Given the description of an element on the screen output the (x, y) to click on. 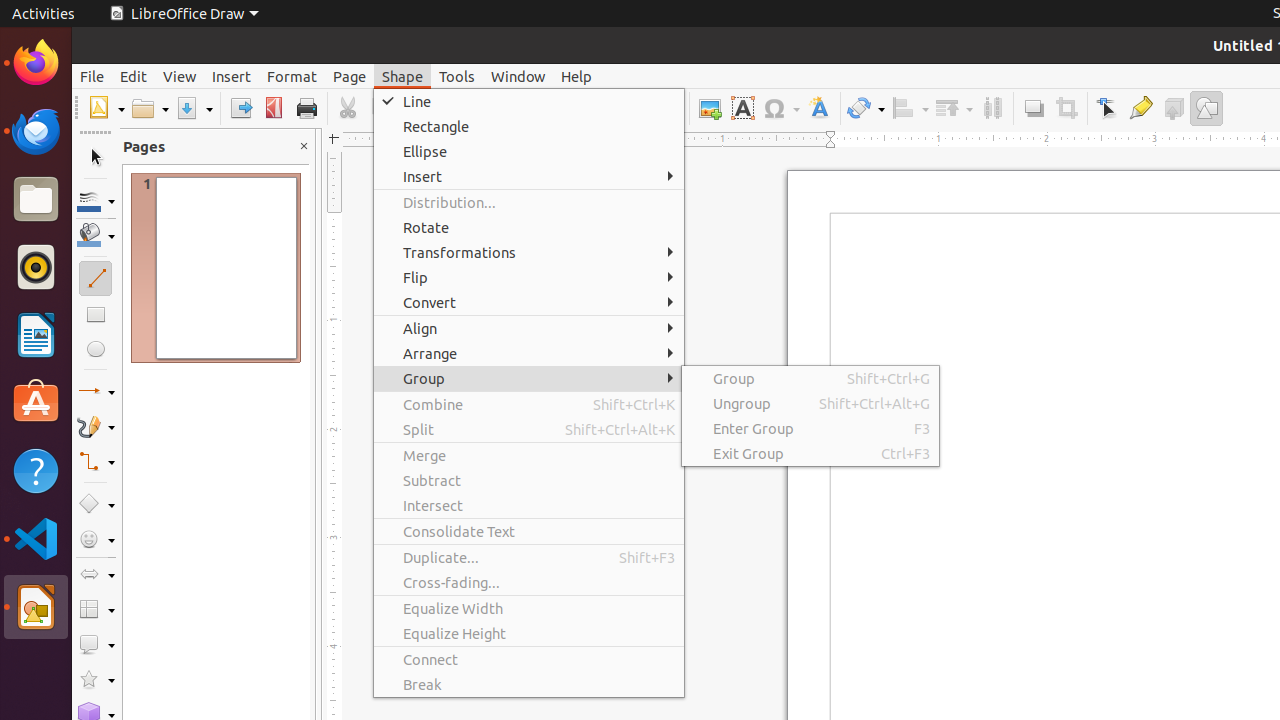
Open Element type: push-button (150, 108)
Undo Element type: push-button (512, 108)
Fontwork Style Element type: toggle-button (819, 108)
Line Color Element type: push-button (96, 200)
Equalize Height Element type: menu-item (529, 633)
